Given the description of an element on the screen output the (x, y) to click on. 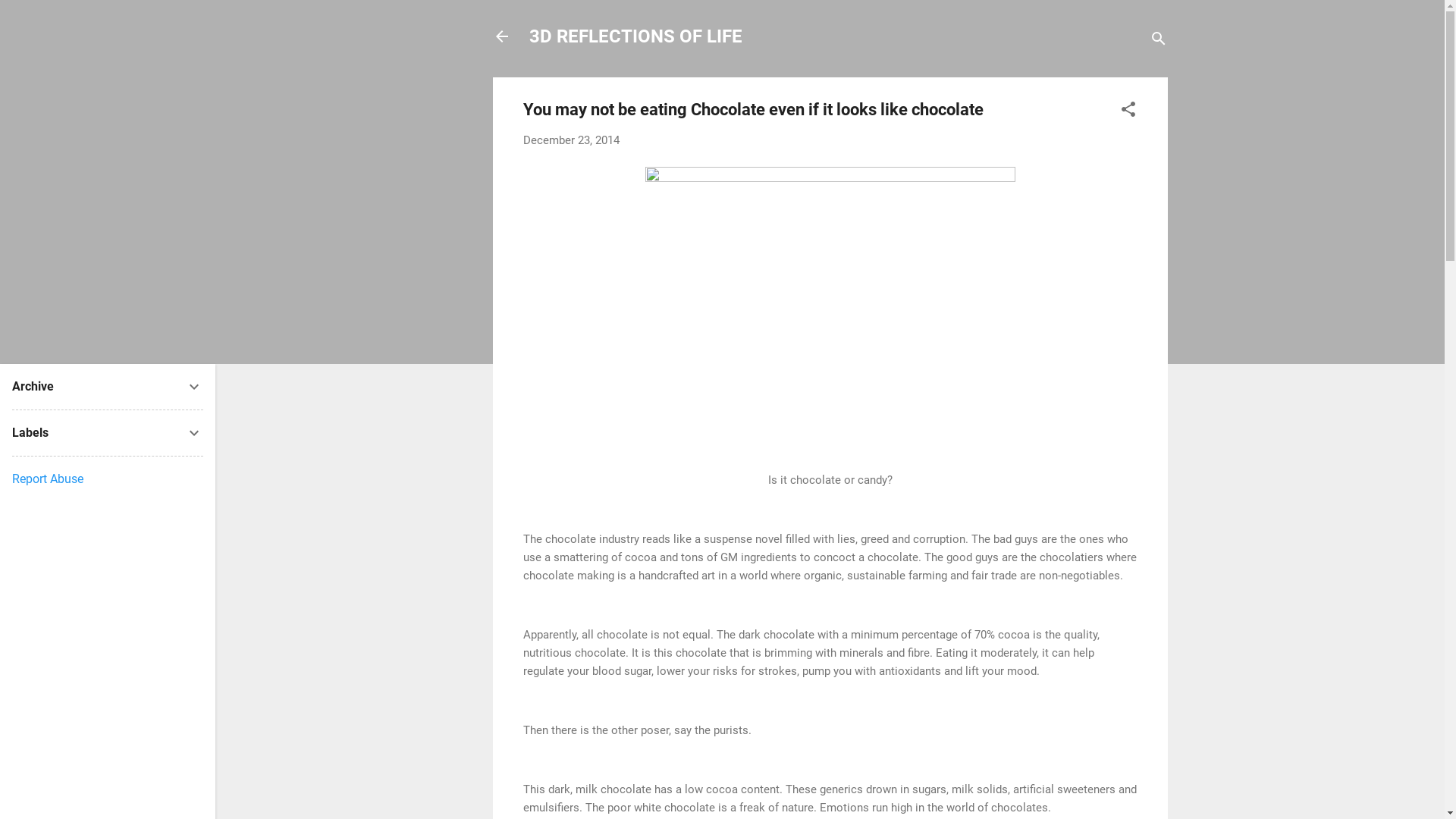
3D REFLECTIONS OF LIFE Element type: text (635, 36)
Search Element type: text (28, 18)
Report Abuse Element type: text (47, 478)
December 23, 2014 Element type: text (571, 140)
